Given the description of an element on the screen output the (x, y) to click on. 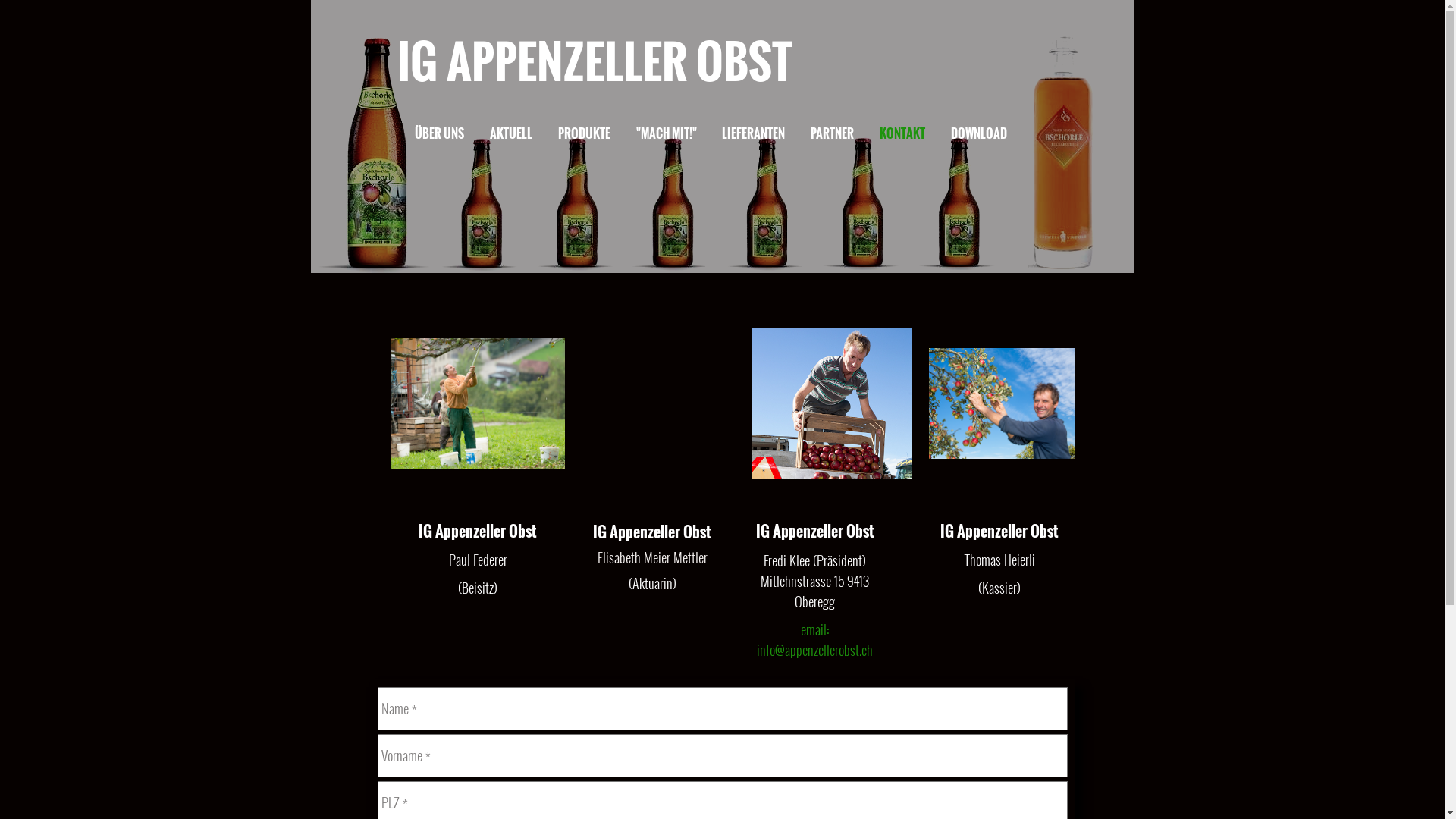
LIEFERANTEN Element type: text (764, 133)
AKTUELL Element type: text (522, 133)
"MACH MIT!" Element type: text (677, 133)
KONTAKT Element type: text (913, 133)
DOWNLOAD Element type: text (989, 133)
PARTNER Element type: text (843, 133)
email: info@appenzellerobst.ch Element type: text (814, 639)
PRODUKTE Element type: text (595, 133)
